Given the description of an element on the screen output the (x, y) to click on. 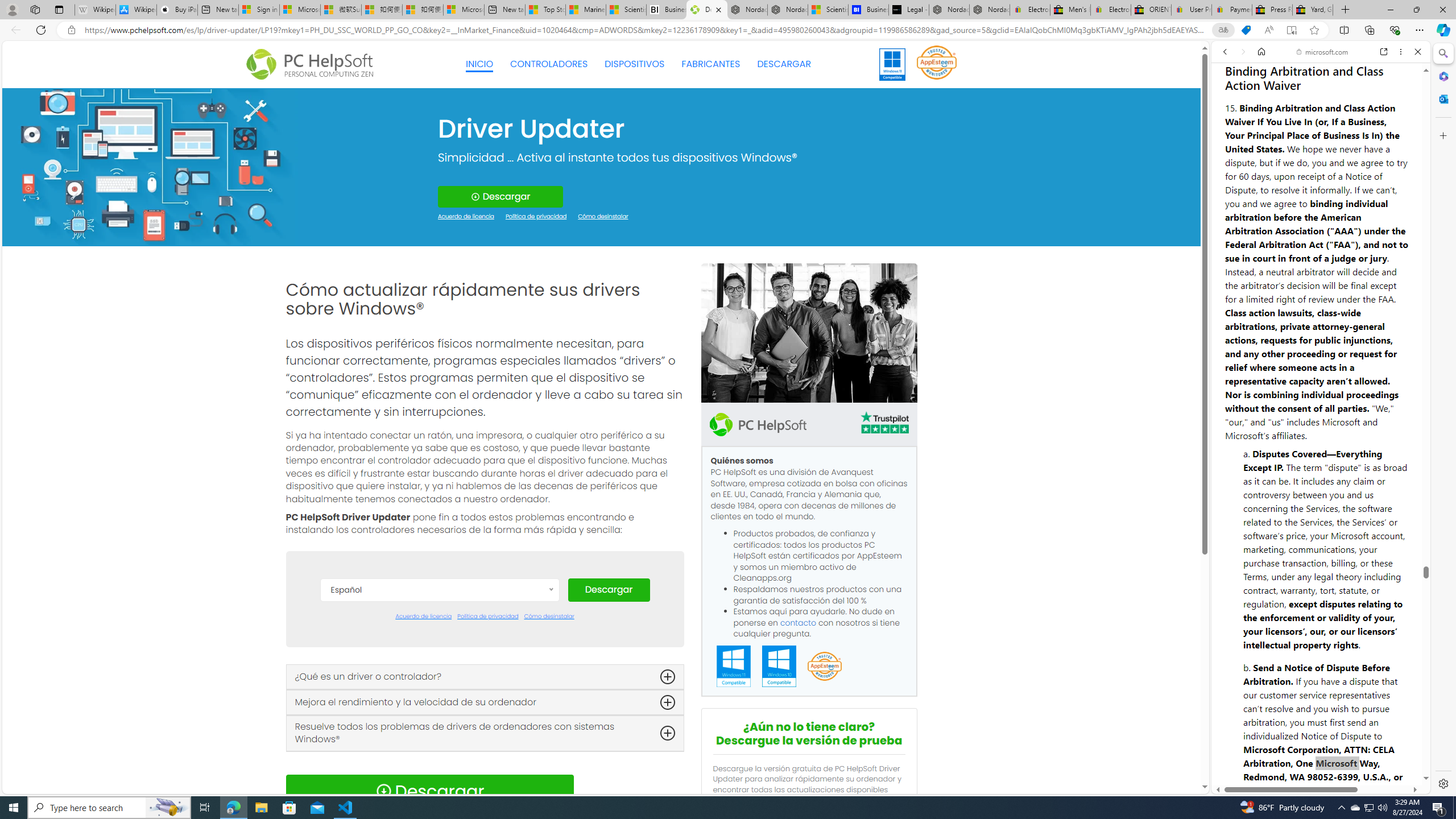
DESCARGAR (783, 64)
CONTROLADORES (548, 64)
FABRICANTES (711, 64)
